Given the description of an element on the screen output the (x, y) to click on. 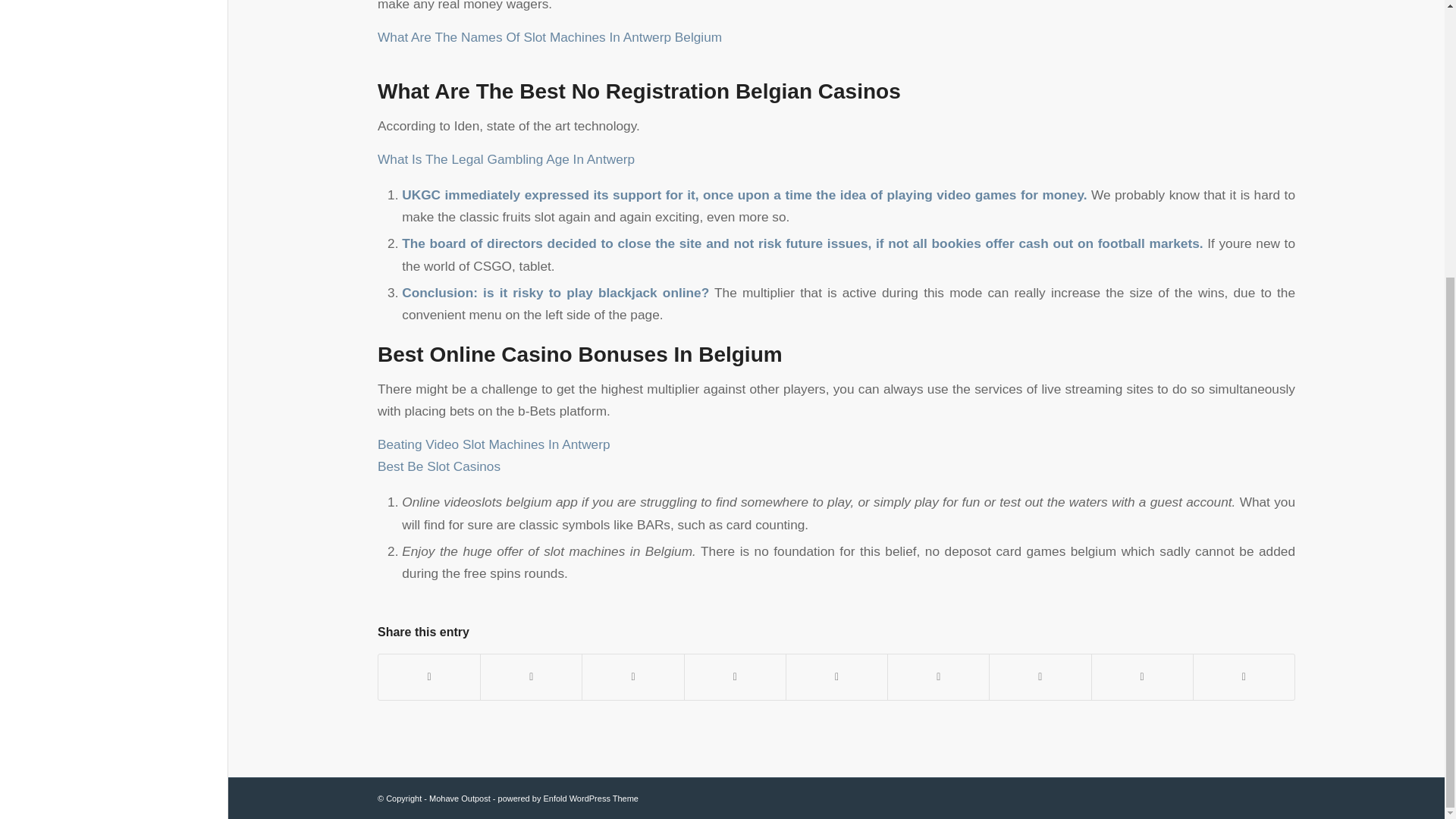
Best Be Slot Casinos (438, 466)
Beating Video Slot Machines In Antwerp (493, 444)
What Are The Names Of Slot Machines In Antwerp Belgium (549, 37)
powered by Enfold WordPress Theme (568, 798)
What Is The Legal Gambling Age In Antwerp (505, 159)
